Given the description of an element on the screen output the (x, y) to click on. 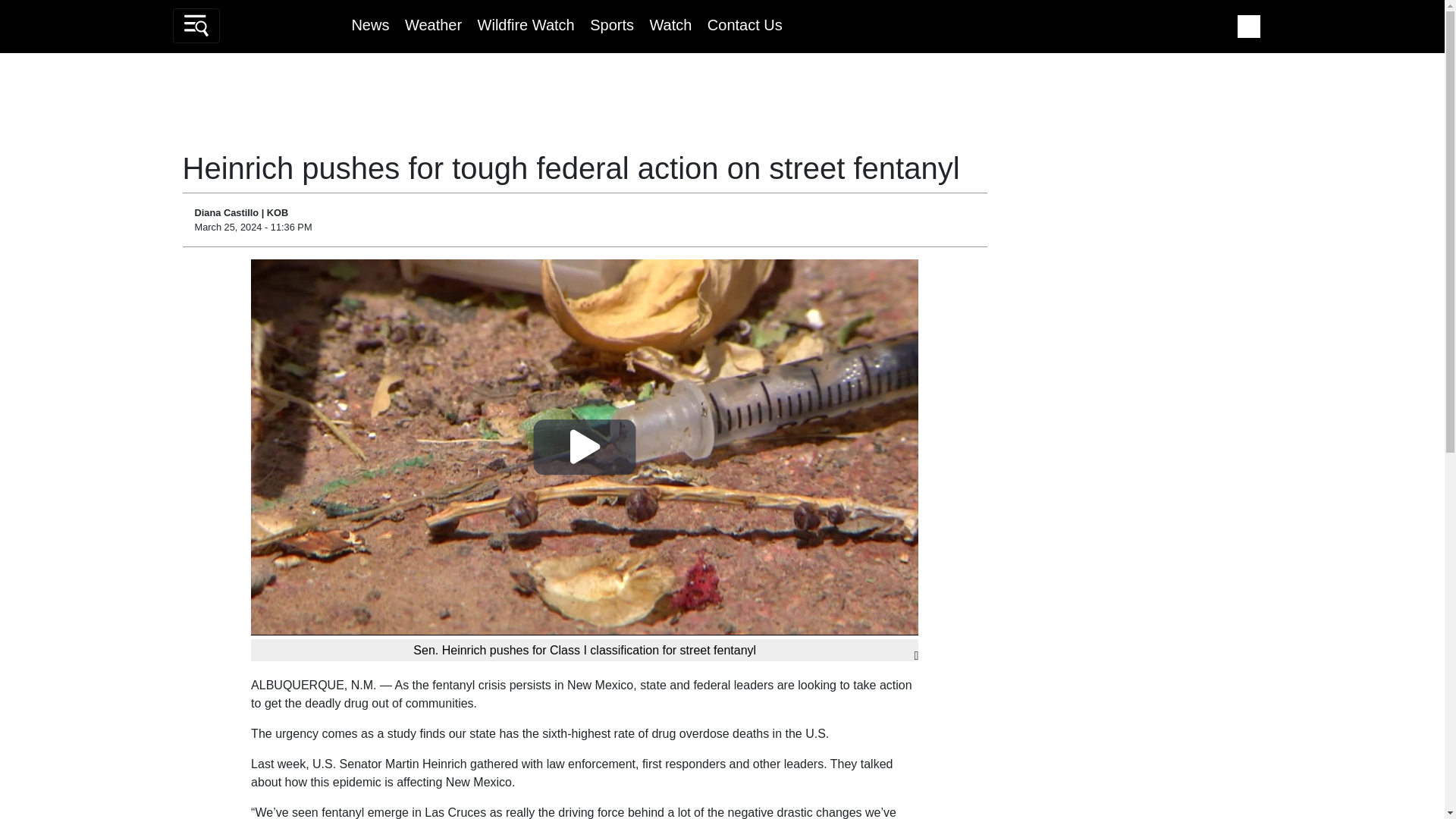
News (369, 24)
Watch (670, 24)
Weather (432, 24)
Wildfire Watch (526, 24)
Contact Us (745, 24)
Play Video (585, 447)
Sports (611, 24)
